Given the description of an element on the screen output the (x, y) to click on. 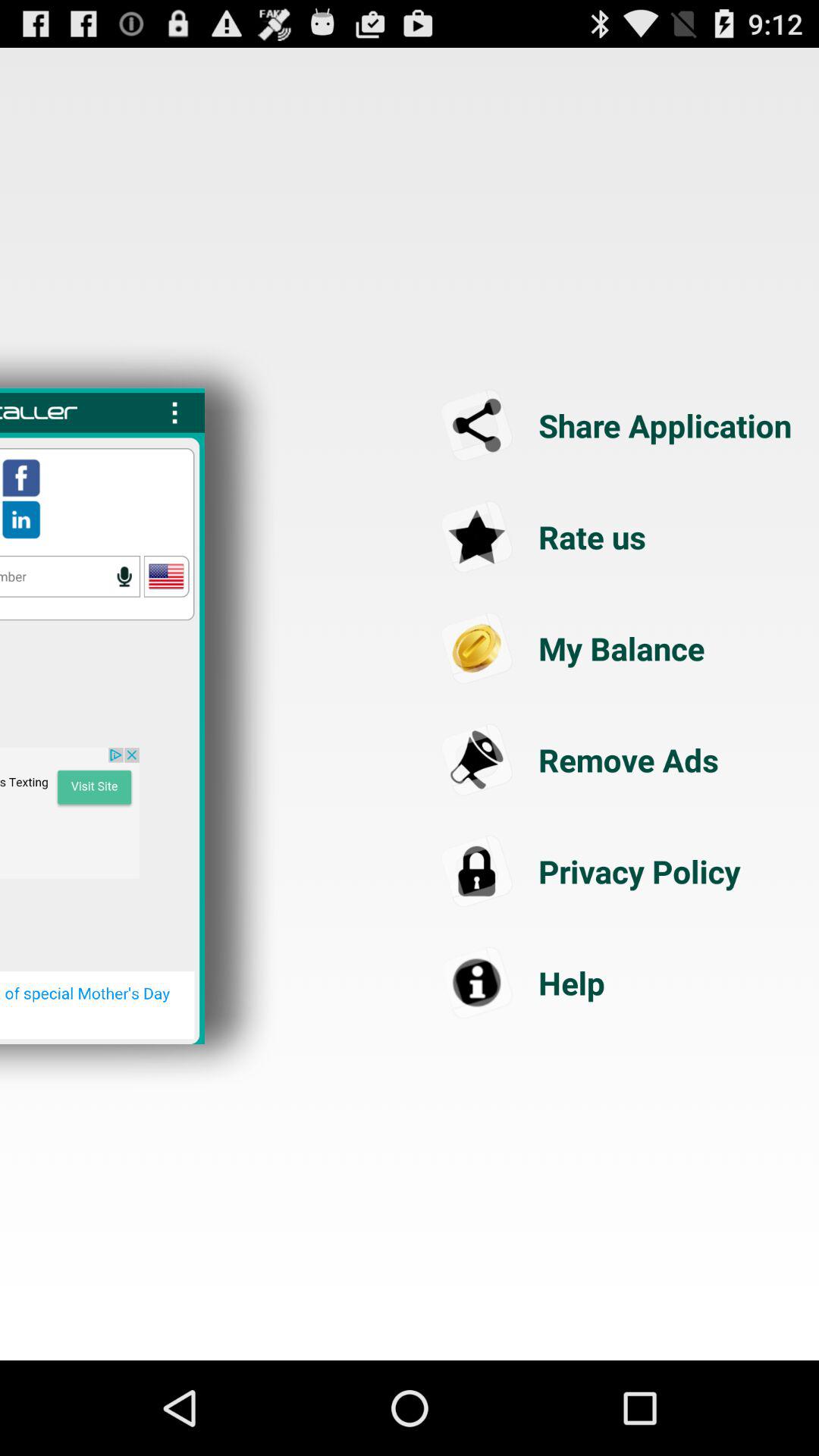
open facebook (21, 478)
